Given the description of an element on the screen output the (x, y) to click on. 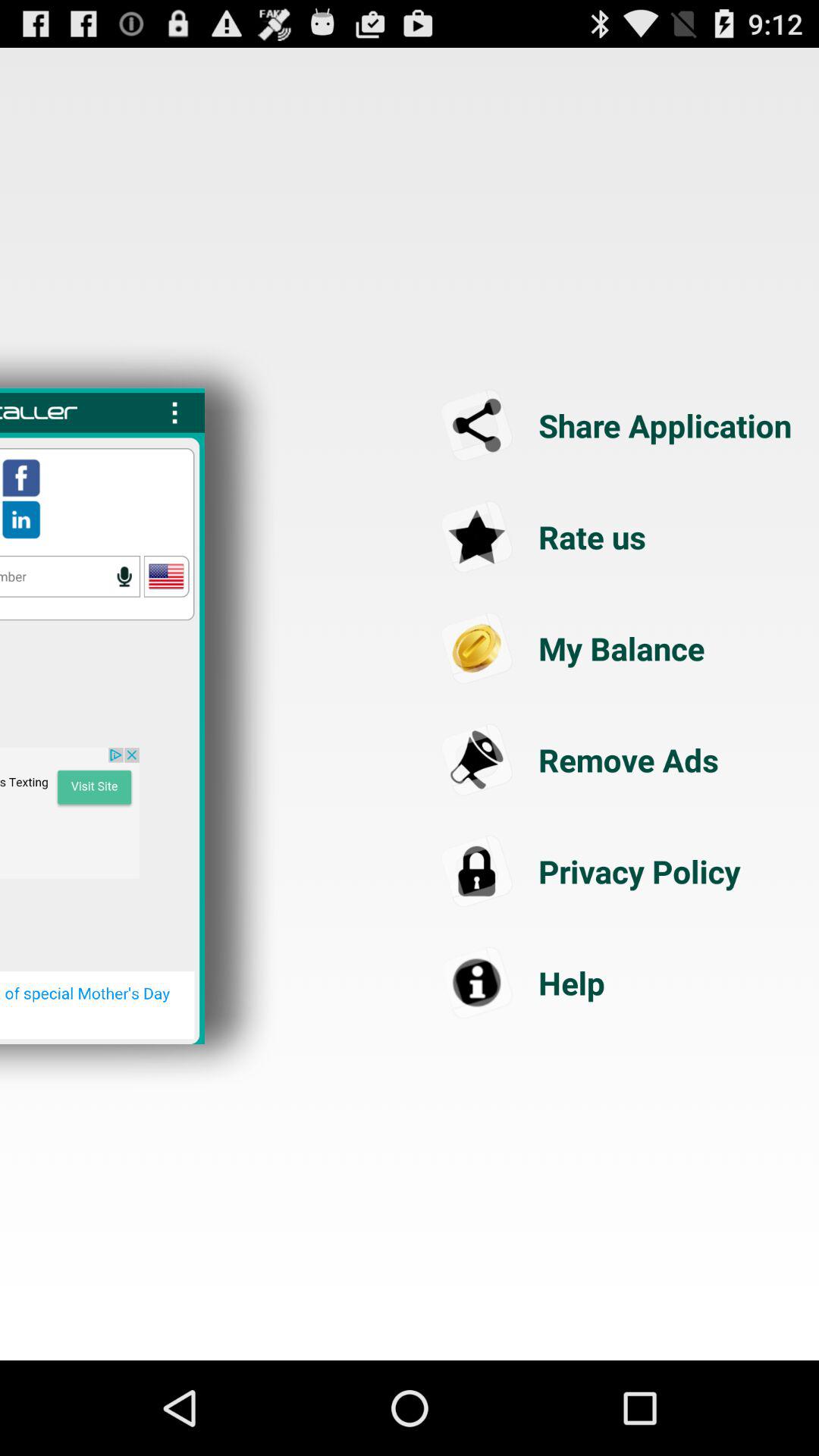
open facebook (21, 478)
